Given the description of an element on the screen output the (x, y) to click on. 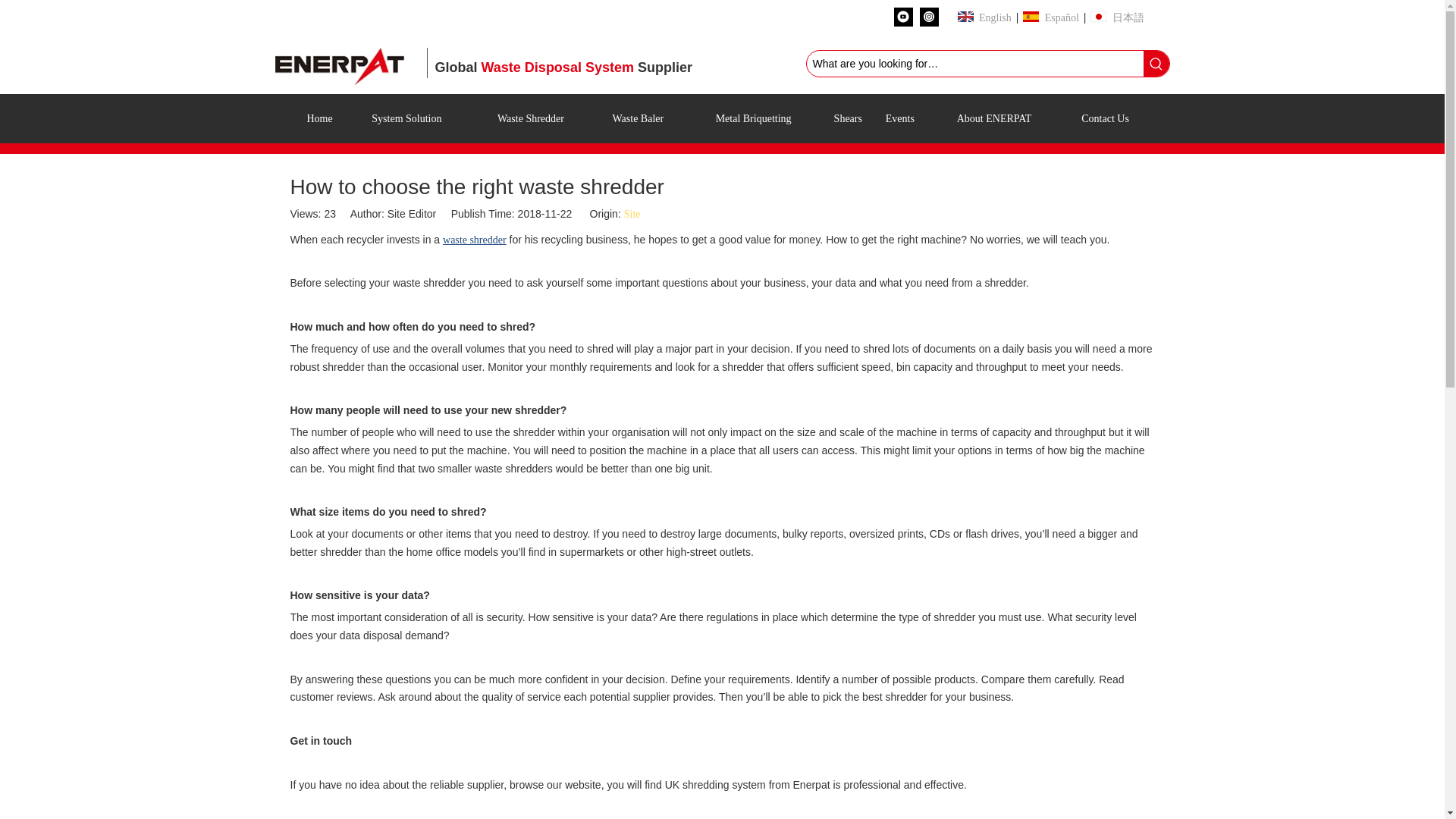
English (983, 18)
Home (318, 118)
Instagram (927, 16)
Enerpat (342, 64)
Waste Shredder (530, 118)
System Solution (406, 118)
Waste Baler (637, 118)
Metal Briquetting (753, 118)
Youtube (902, 16)
